Given the description of an element on the screen output the (x, y) to click on. 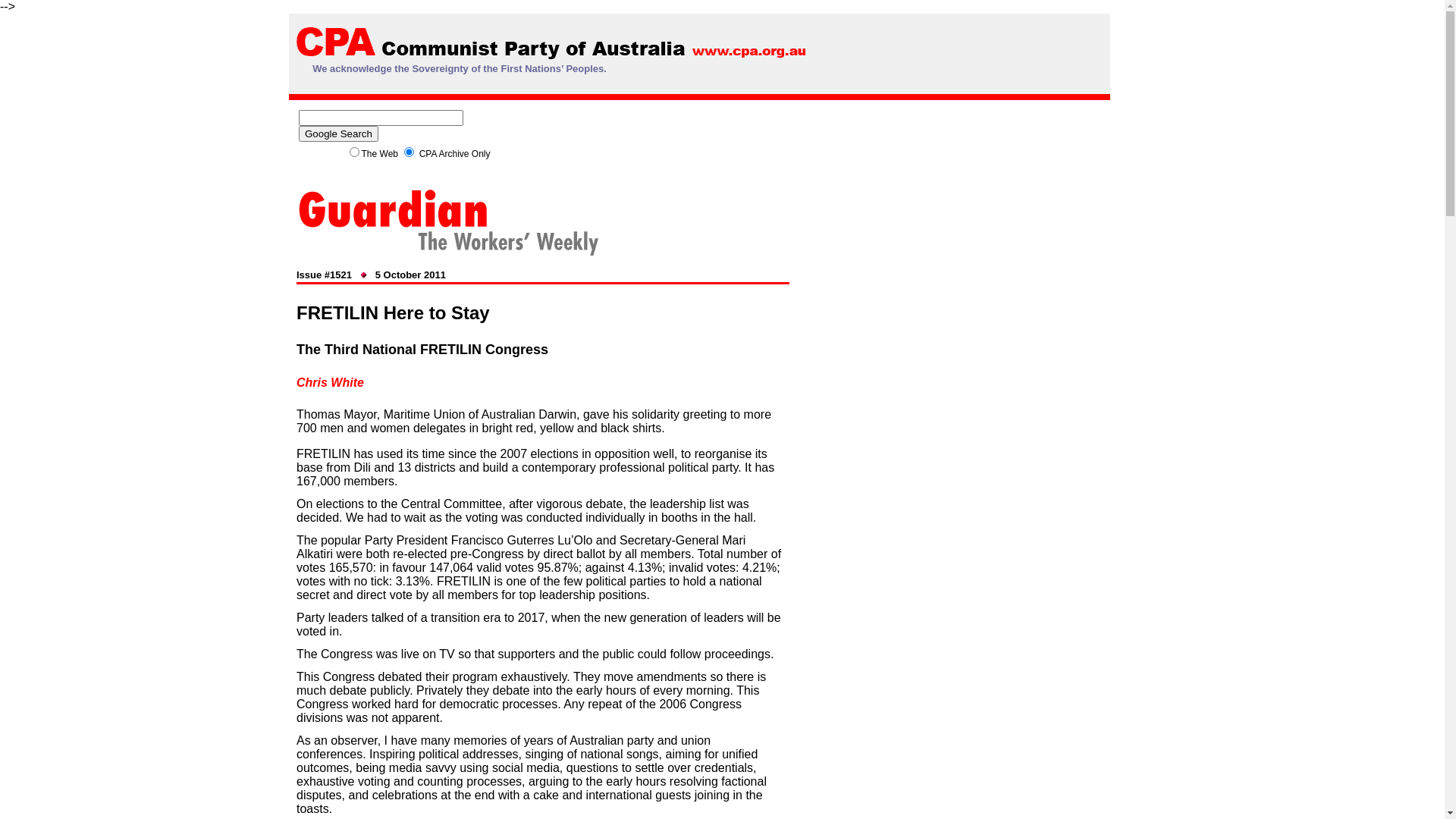
Google Search Element type: text (338, 133)
